Given the description of an element on the screen output the (x, y) to click on. 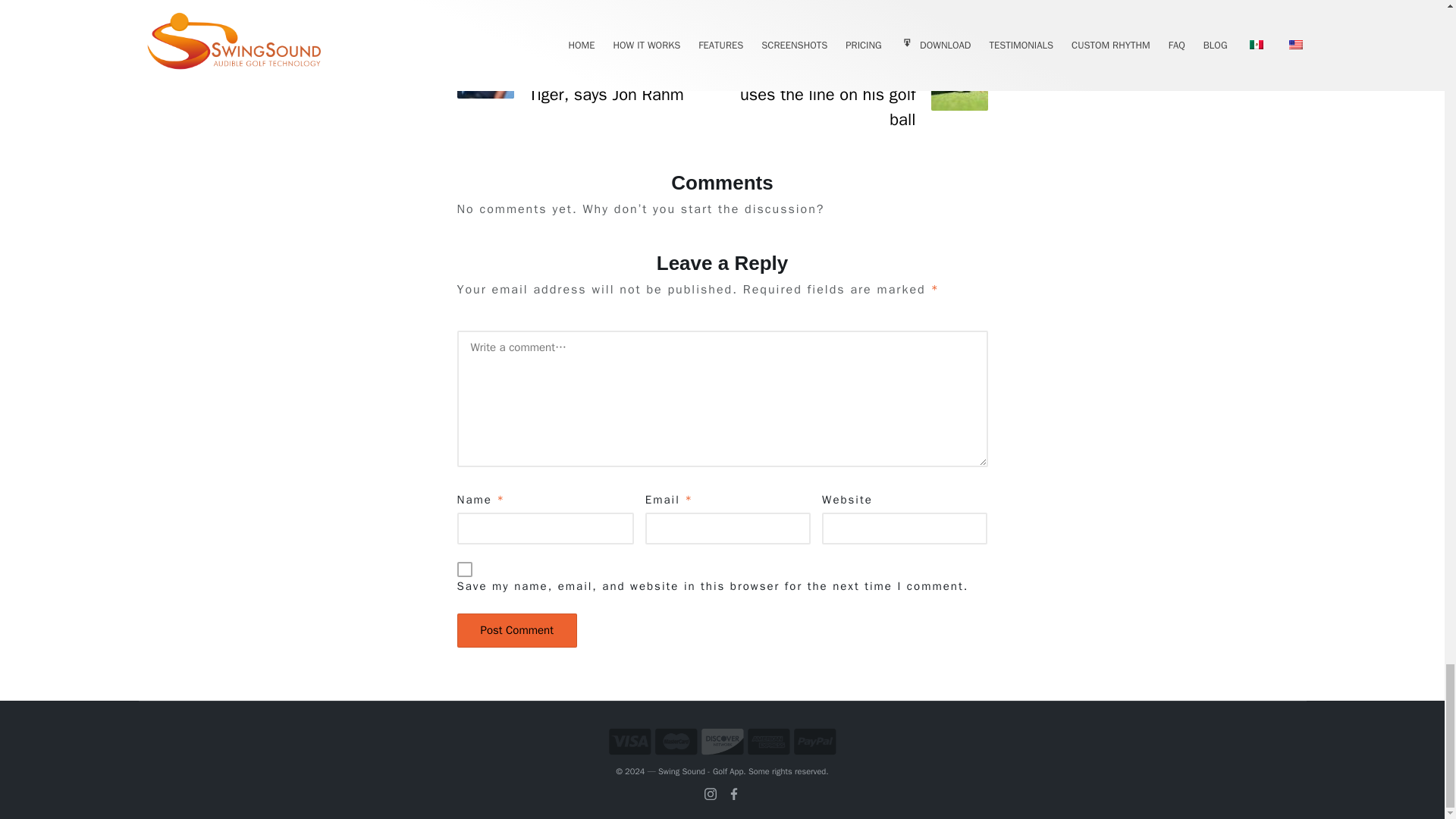
Instagram (710, 793)
Post Comment (516, 630)
Facebook (733, 793)
Post Comment (516, 630)
yes (464, 569)
